Given the description of an element on the screen output the (x, y) to click on. 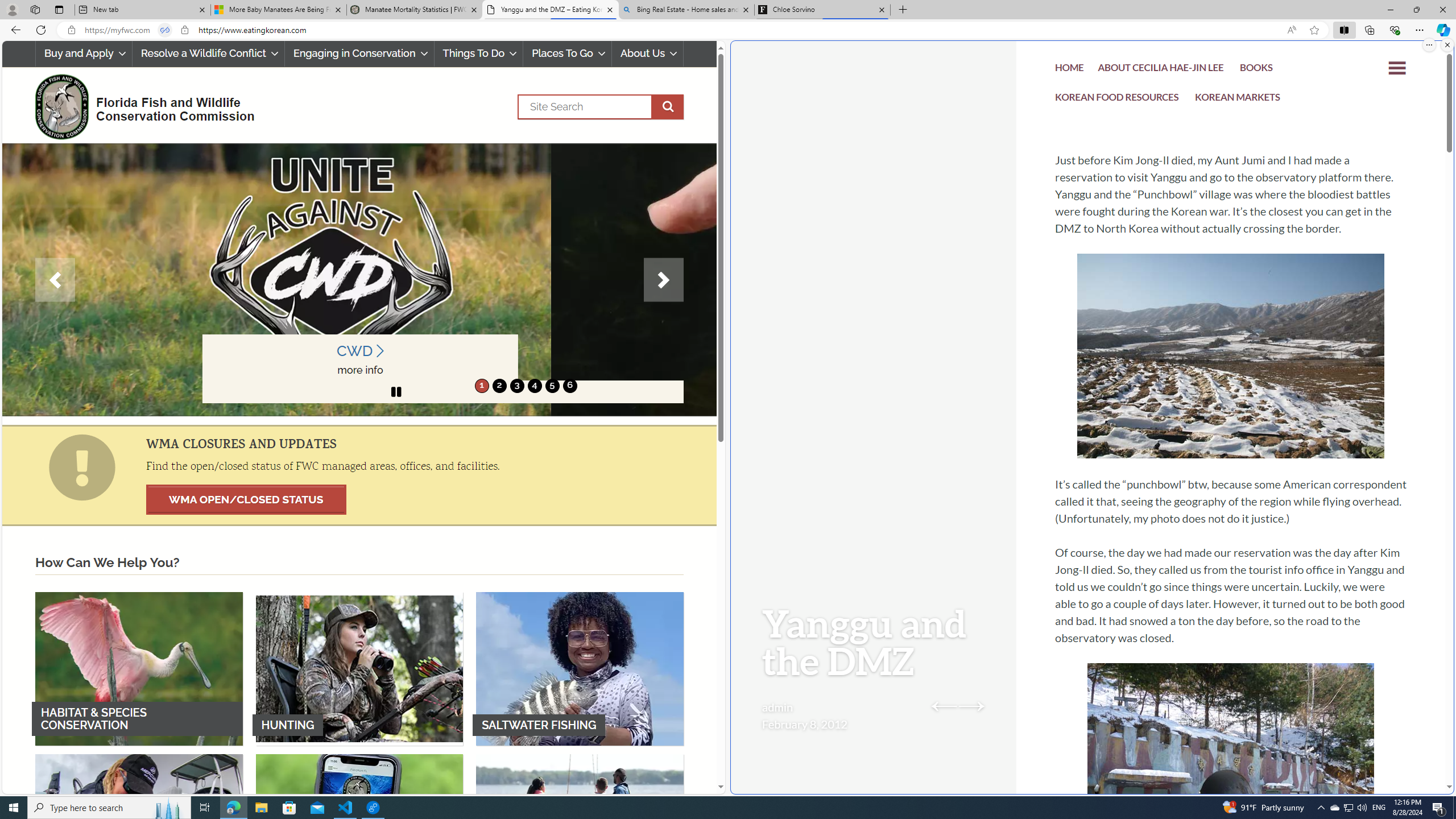
Engaging in Conservation (358, 53)
1 (481, 385)
Manatee Mortality Statistics | FWC (414, 9)
February 8, 2012 (804, 723)
HOME (1069, 68)
FWC Logo Florida Fish and Wildlife Conservation Commission (139, 104)
move to slide 1 (481, 385)
About Us (647, 53)
Yanggu_punchbowl (1230, 355)
KOREAN MARKETS (1237, 98)
